Given the description of an element on the screen output the (x, y) to click on. 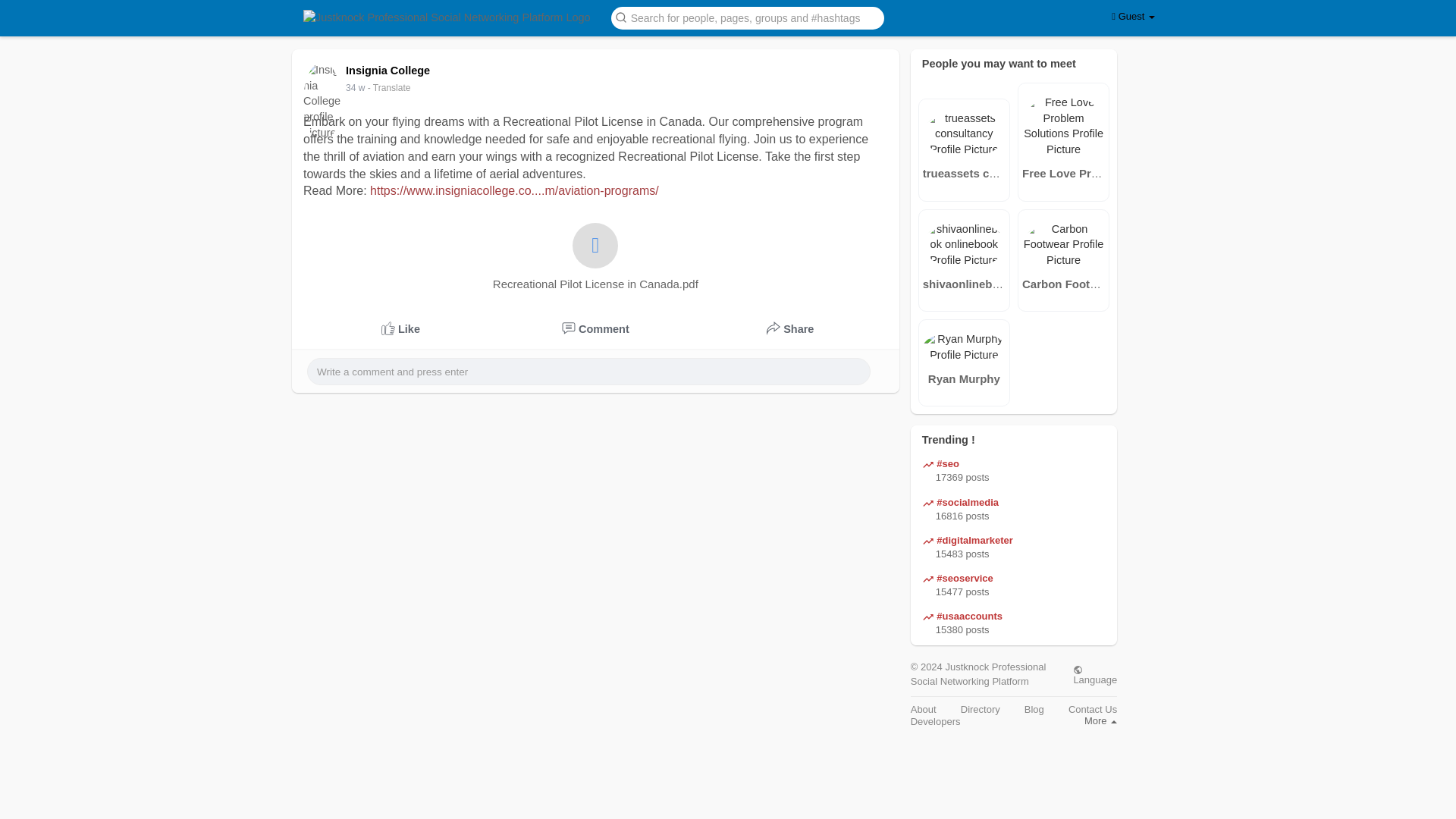
Carbon Footwear (1063, 284)
Contact Us (1092, 709)
Language (1094, 674)
Free Love Problem Solutions (1100, 173)
Share (790, 329)
shivaonlinebook onlinebook (964, 284)
shivaonlinebook onlinebook (1000, 283)
Free Love Problem Solutions (1063, 173)
Ryan Murphy (964, 378)
Carbon Footwear (1068, 283)
